Given the description of an element on the screen output the (x, y) to click on. 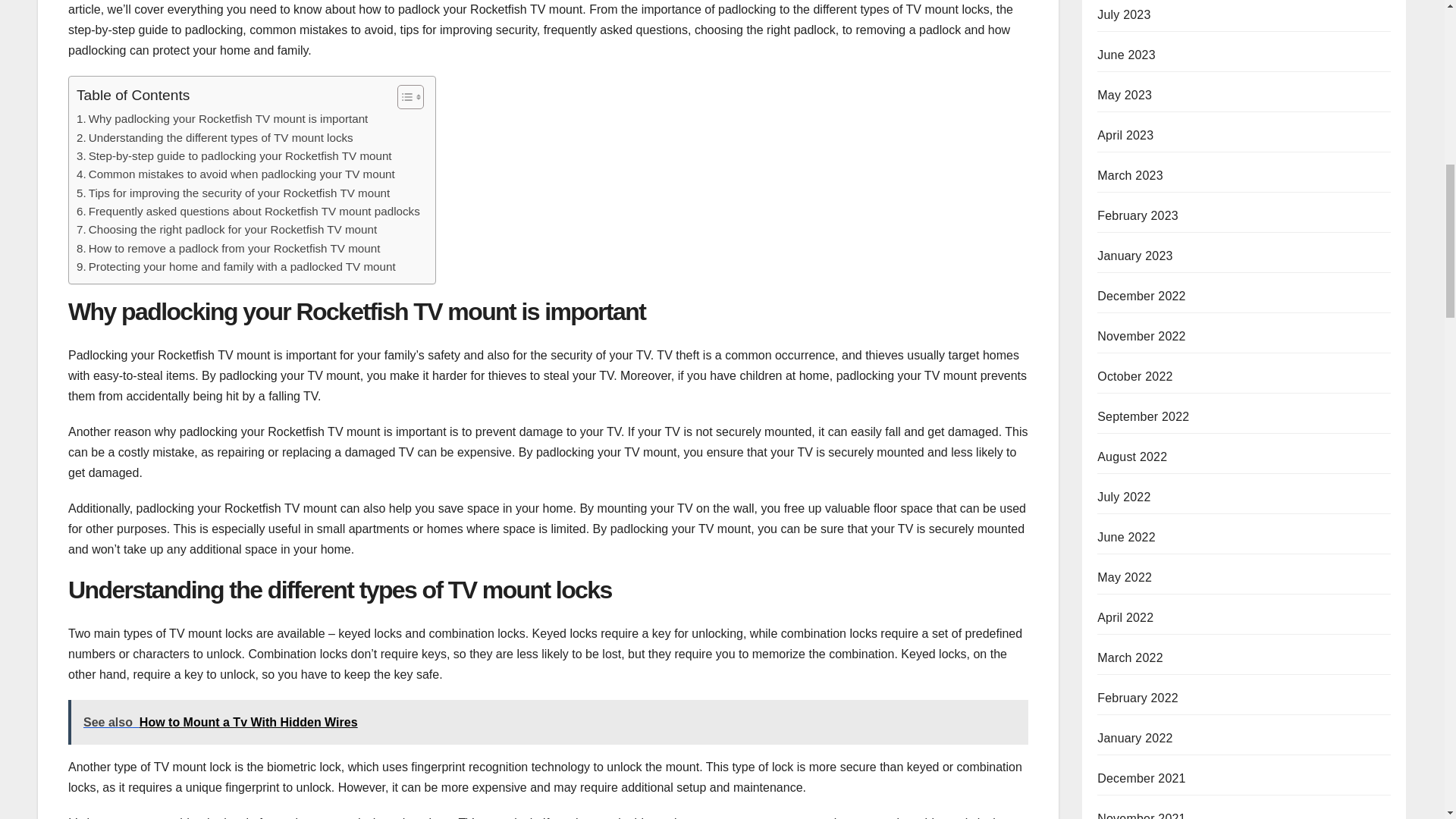
Why padlocking your Rocketfish TV mount is important (222, 118)
Protecting your home and family with a padlocked TV mount (236, 266)
How to remove a padlock from your Rocketfish TV mount (228, 248)
Common mistakes to avoid when padlocking your TV mount (235, 174)
Understanding the different types of TV mount locks (215, 137)
Step-by-step guide to padlocking your Rocketfish TV mount (234, 156)
Choosing the right padlock for your Rocketfish TV mount (227, 229)
How to remove a padlock from your Rocketfish TV mount (228, 248)
Tips for improving the security of your Rocketfish TV mount (233, 193)
Common mistakes to avoid when padlocking your TV mount (235, 174)
